Given the description of an element on the screen output the (x, y) to click on. 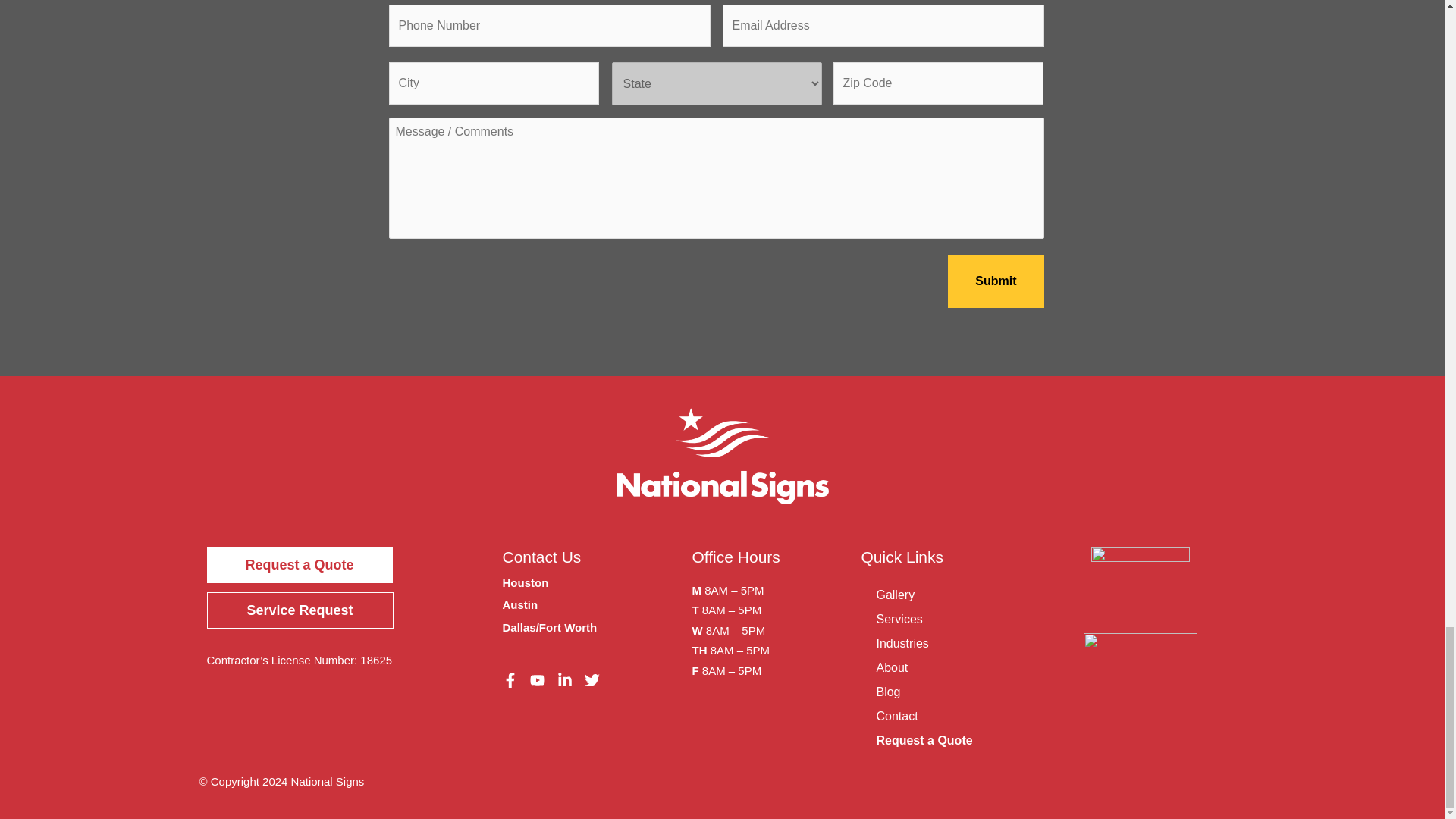
Submit (995, 280)
